Given the description of an element on the screen output the (x, y) to click on. 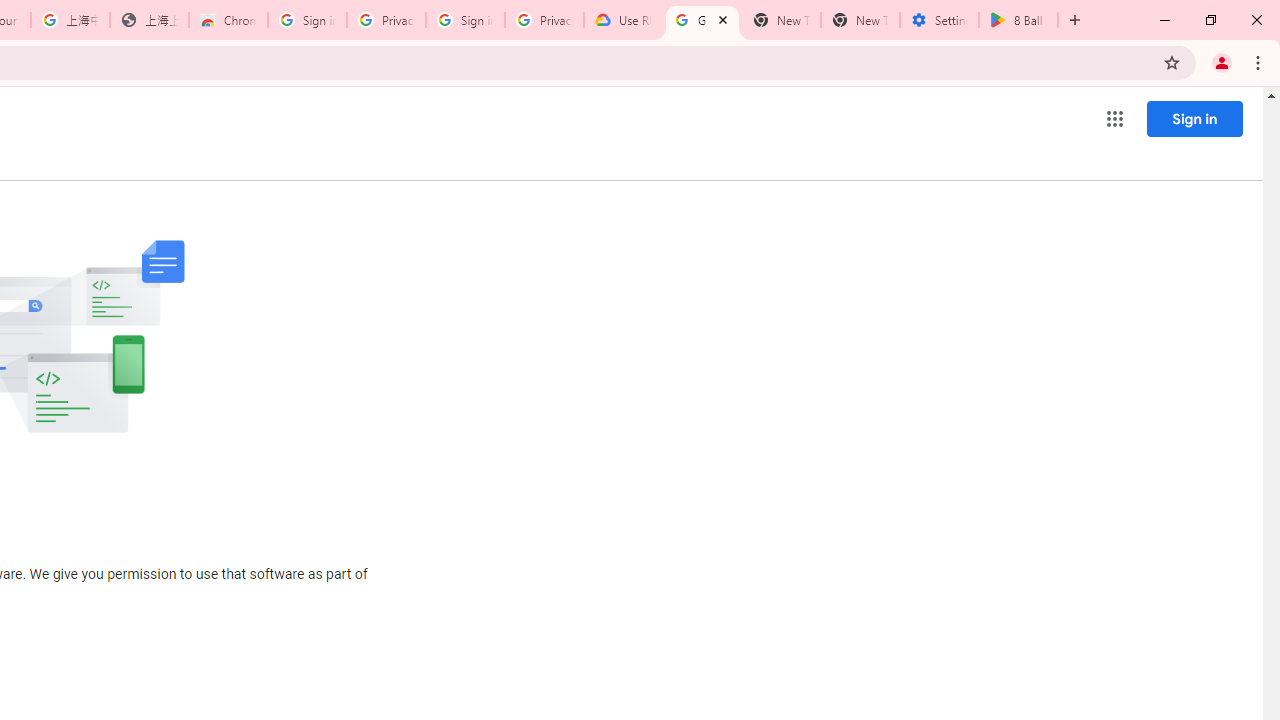
Settings - System (939, 20)
New Tab (859, 20)
Sign in - Google Accounts (306, 20)
